Given the description of an element on the screen output the (x, y) to click on. 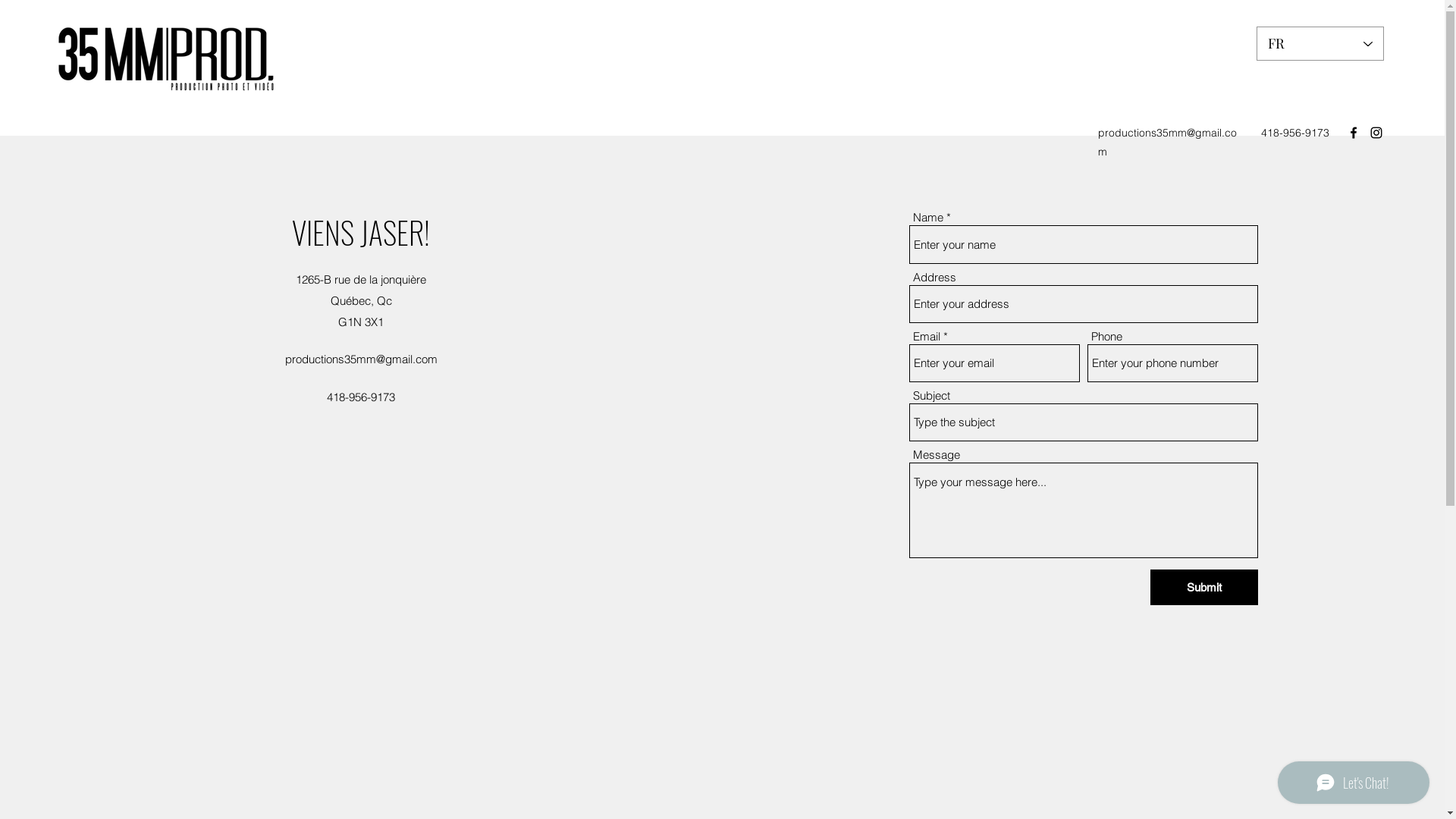
productions35mm@gmail.com Element type: text (361, 358)
Submit Element type: text (1204, 587)
productions35mm@gmail.com Element type: text (1167, 141)
